Given the description of an element on the screen output the (x, y) to click on. 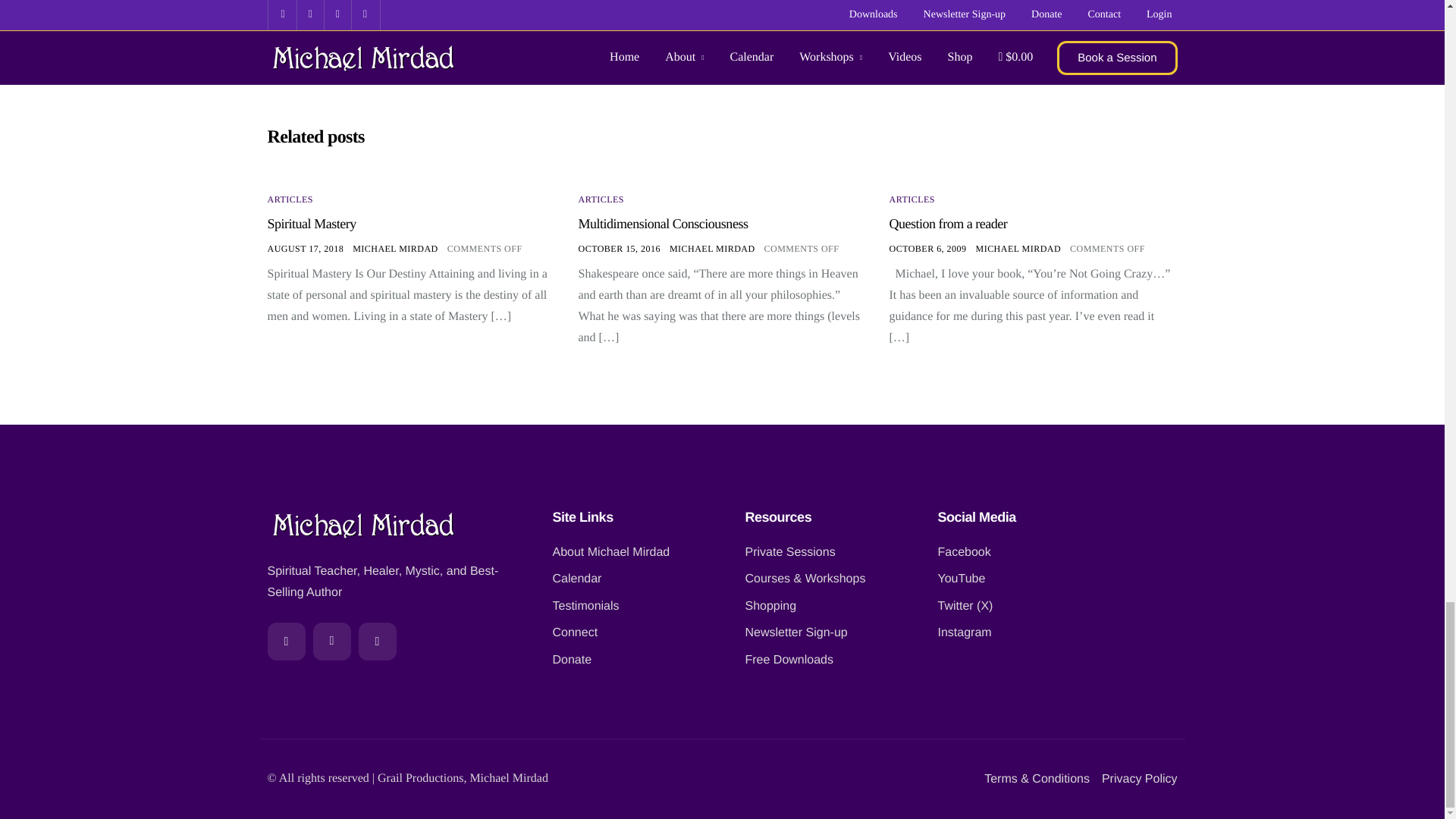
Posts by Michael Mirdad (395, 248)
Spiritual Mastery (310, 223)
Multidimensional Consciousness (663, 223)
